Given the description of an element on the screen output the (x, y) to click on. 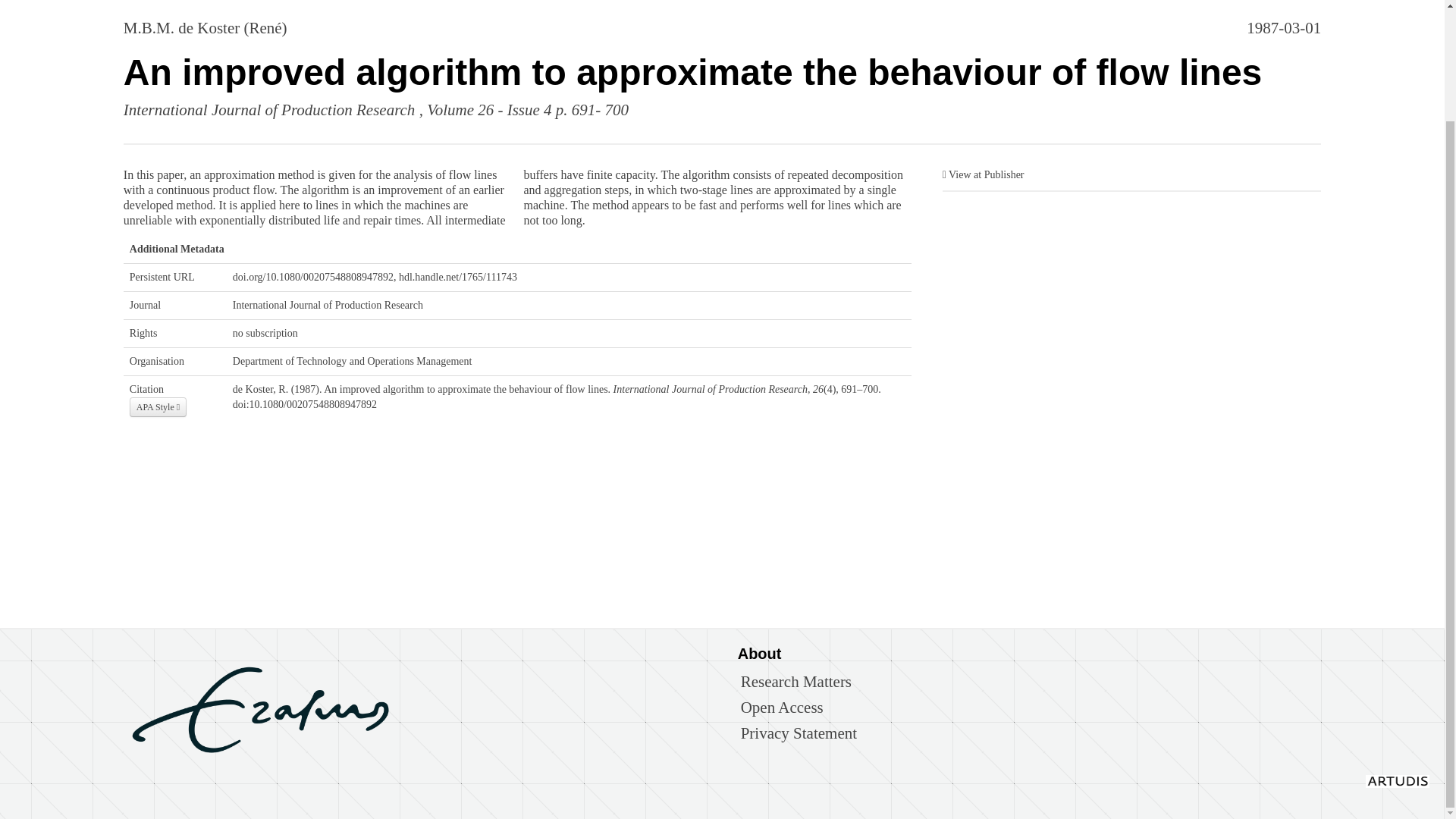
Department of Technology and Operations Management (351, 360)
International Journal of Production Research (327, 305)
APA Style (157, 406)
International Journal of Production Research (268, 109)
